Given the description of an element on the screen output the (x, y) to click on. 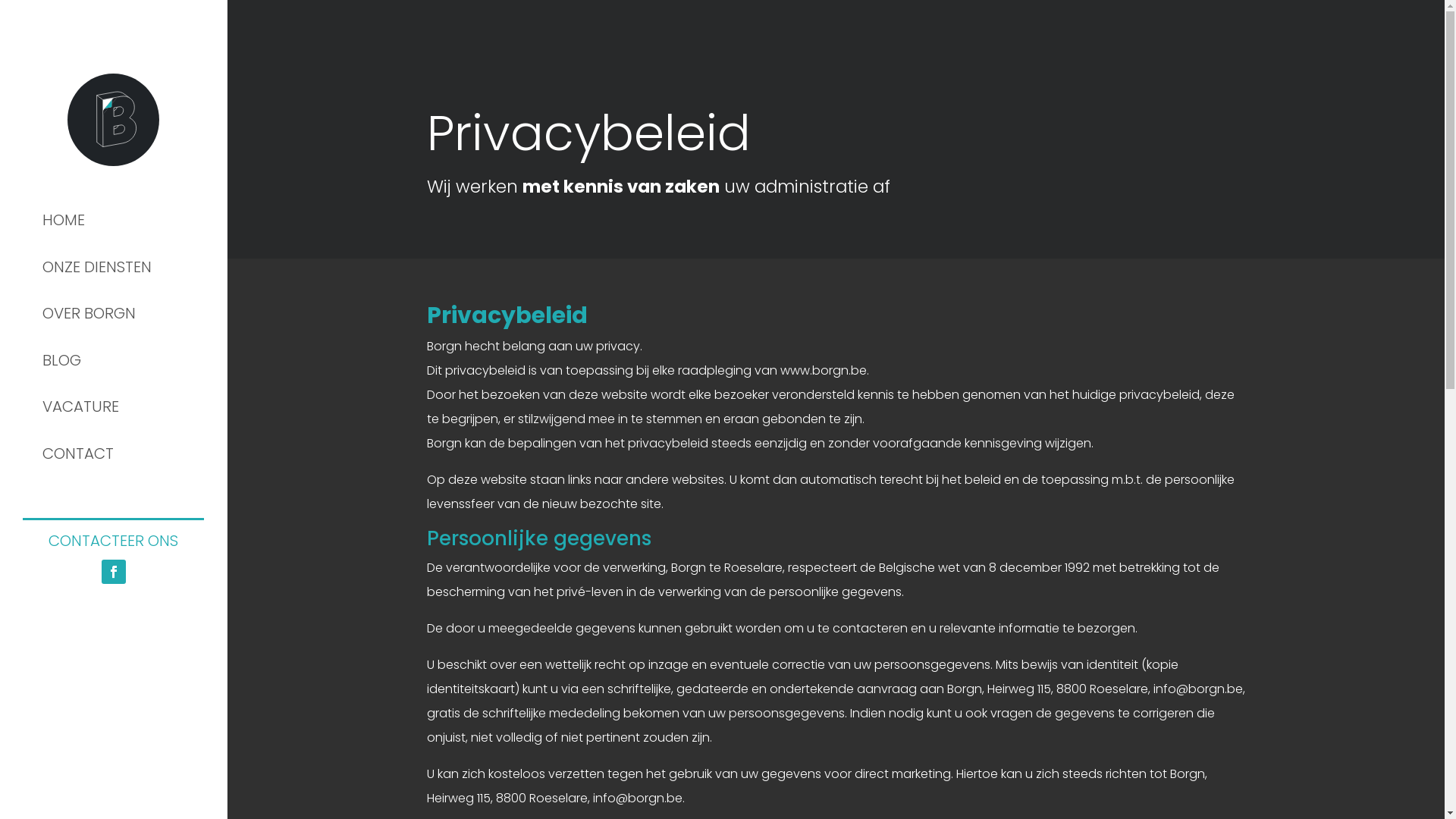
ONZE DIENSTEN Element type: text (113, 266)
VACATURE Element type: text (113, 406)
Volg op Facebook Element type: hover (113, 571)
CONTACTEER ONS Element type: text (112, 540)
OVER BORGN Element type: text (113, 312)
HOME Element type: text (113, 219)
BLOG Element type: text (113, 359)
CONTACT Element type: text (113, 452)
